Given the description of an element on the screen output the (x, y) to click on. 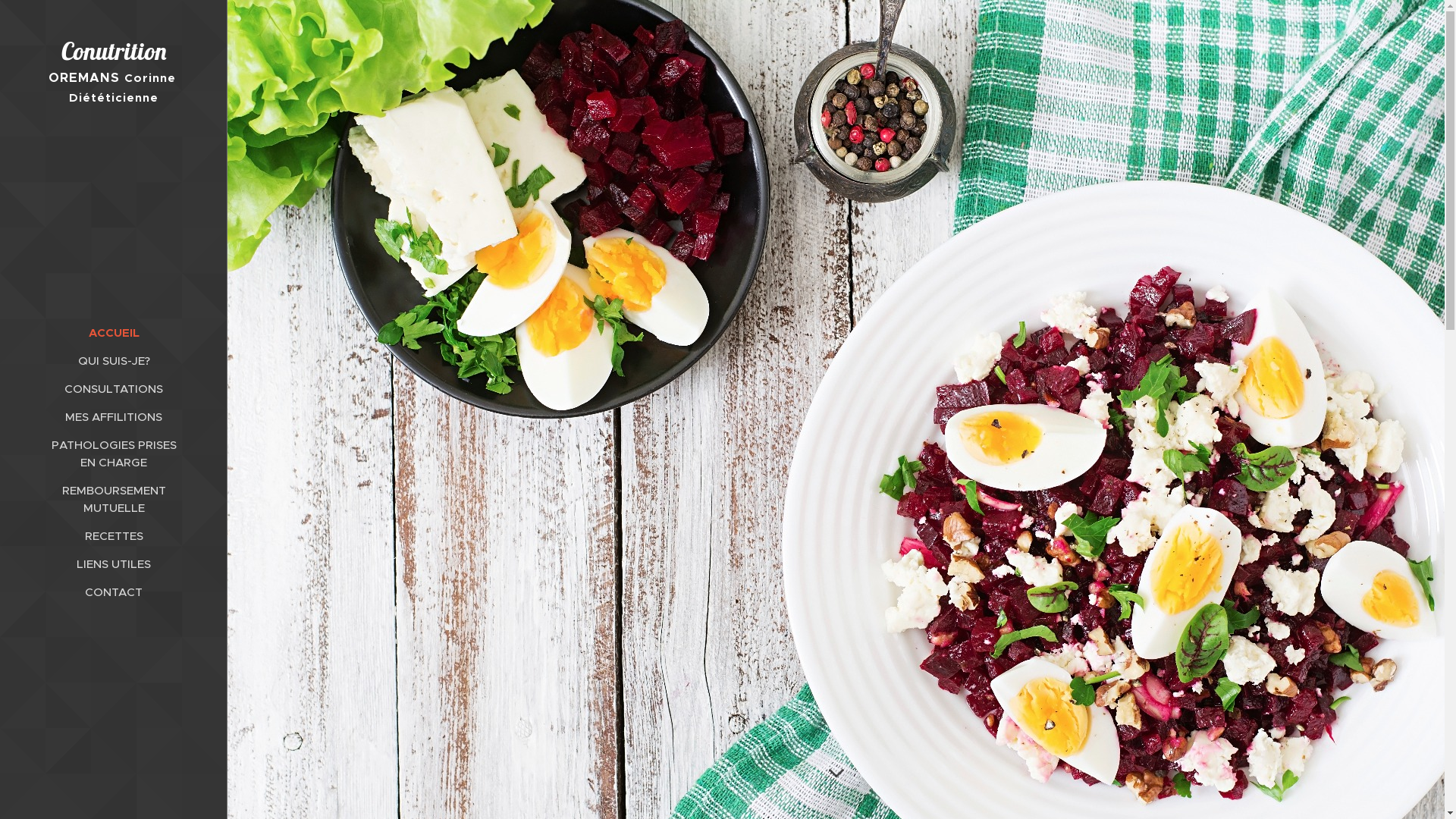
RECETTES Element type: text (113, 535)
QUI SUIS-JE? Element type: text (113, 360)
PATHOLOGIES PRISES EN CHARGE Element type: text (113, 453)
REMBOURSEMENT MUTUELLE Element type: text (113, 498)
CONSULTATIONS Element type: text (113, 388)
ACCUEIL Element type: text (113, 332)
MES AFFILITIONS Element type: text (113, 416)
CONTACT Element type: text (113, 591)
LIENS UTILES Element type: text (113, 563)
